Given the description of an element on the screen output the (x, y) to click on. 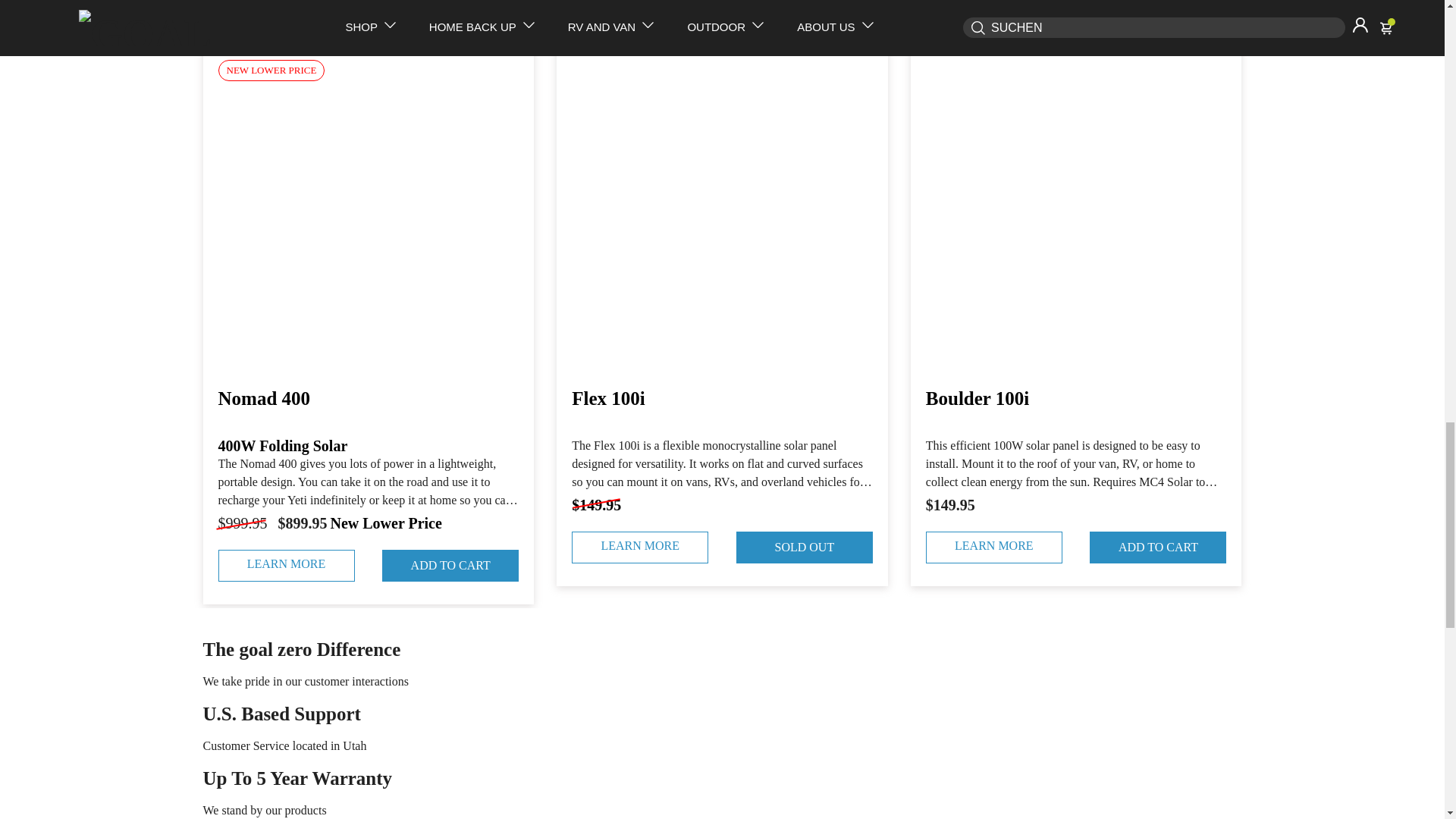
Add to Cart (1157, 547)
Sold out (804, 547)
Add to Cart (449, 565)
